Given the description of an element on the screen output the (x, y) to click on. 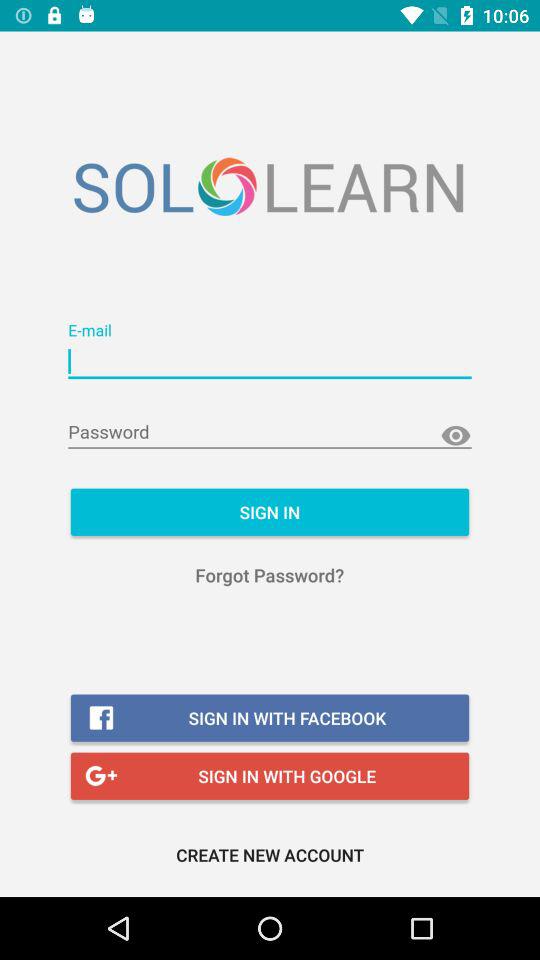
entry password (270, 432)
